Given the description of an element on the screen output the (x, y) to click on. 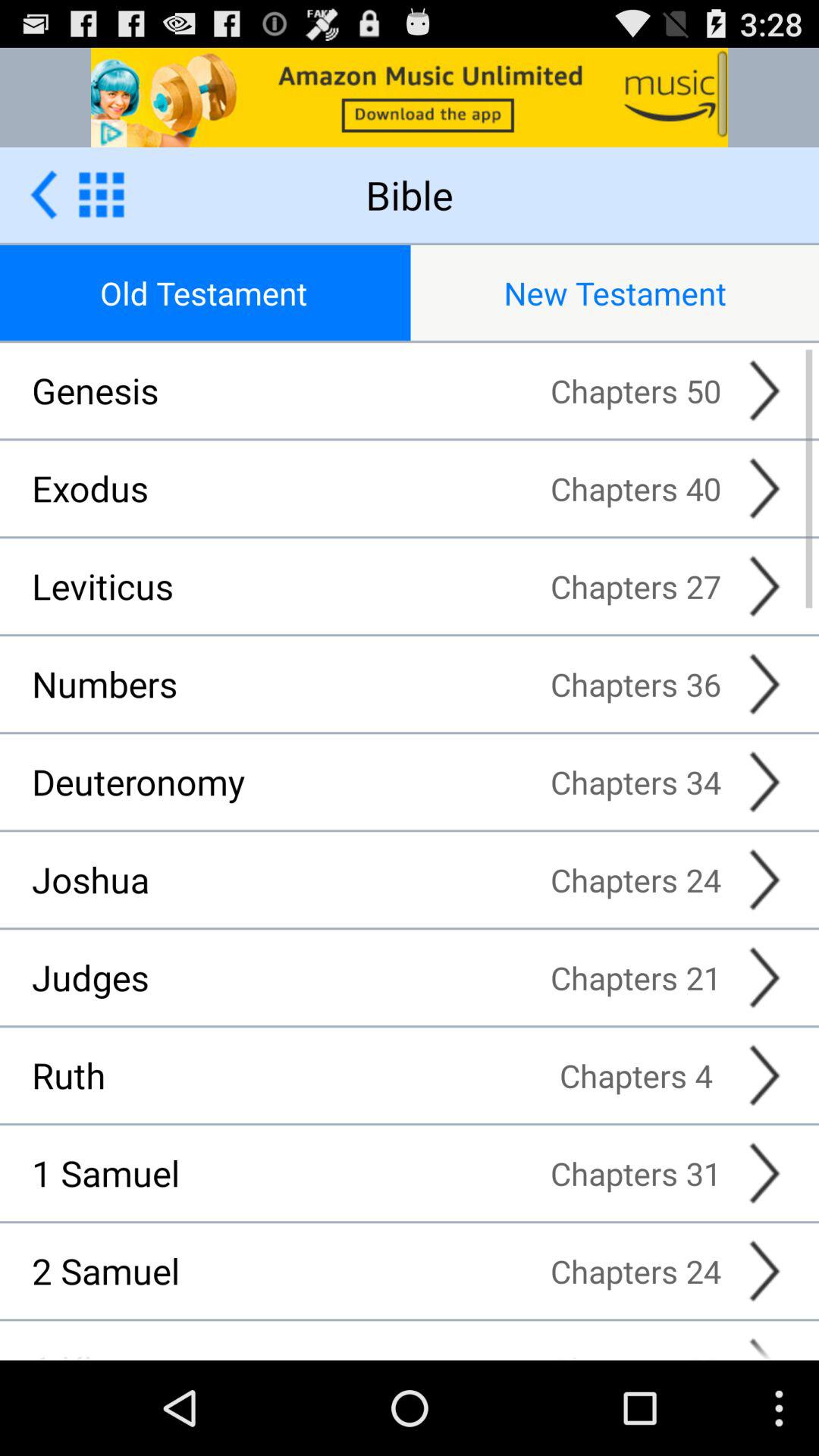
back (43, 194)
